Given the description of an element on the screen output the (x, y) to click on. 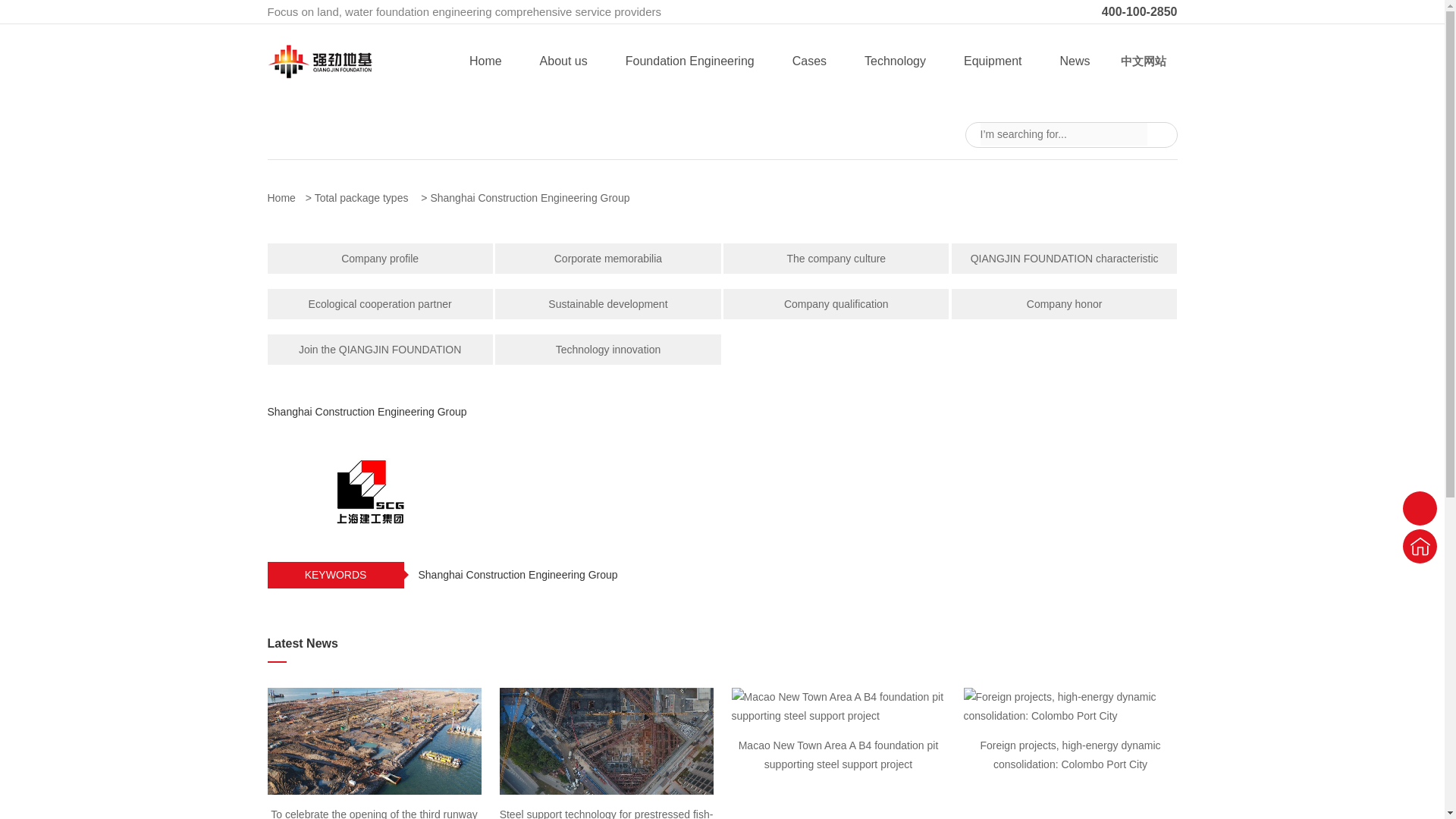
Company profile (379, 258)
Sustainable development (607, 304)
Foundation Engineering (690, 61)
The company culture (836, 258)
Foundation Engineering (690, 61)
Ecological cooperation partner (379, 304)
Company qualification (836, 304)
Shanghai QiangJin Foundation Engineering Co., Ltd. (318, 73)
Corporate memorabilia (607, 258)
Total package types (366, 197)
Home (285, 197)
Shanghai Construction Engineering Group (534, 197)
Corporate memorabilia (607, 258)
Shanghai Construction Engineering Group (534, 197)
QIANGJIN FOUNDATION characteristic (1064, 258)
